Given the description of an element on the screen output the (x, y) to click on. 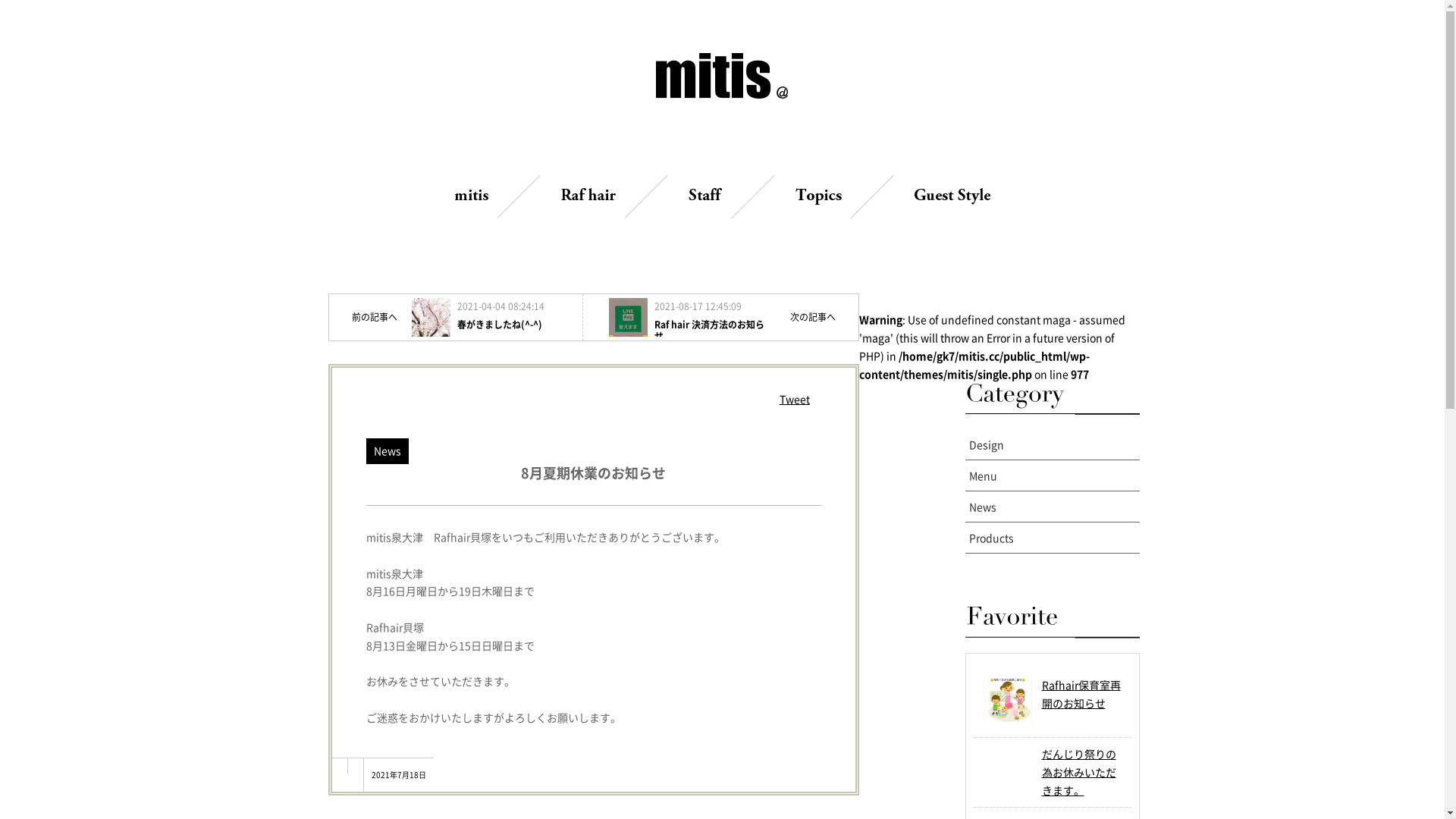
Design Element type: text (1051, 443)
Products Element type: text (1051, 537)
News Element type: text (1051, 506)
Menu Element type: text (1051, 475)
Tweet Element type: text (794, 398)
